Given the description of an element on the screen output the (x, y) to click on. 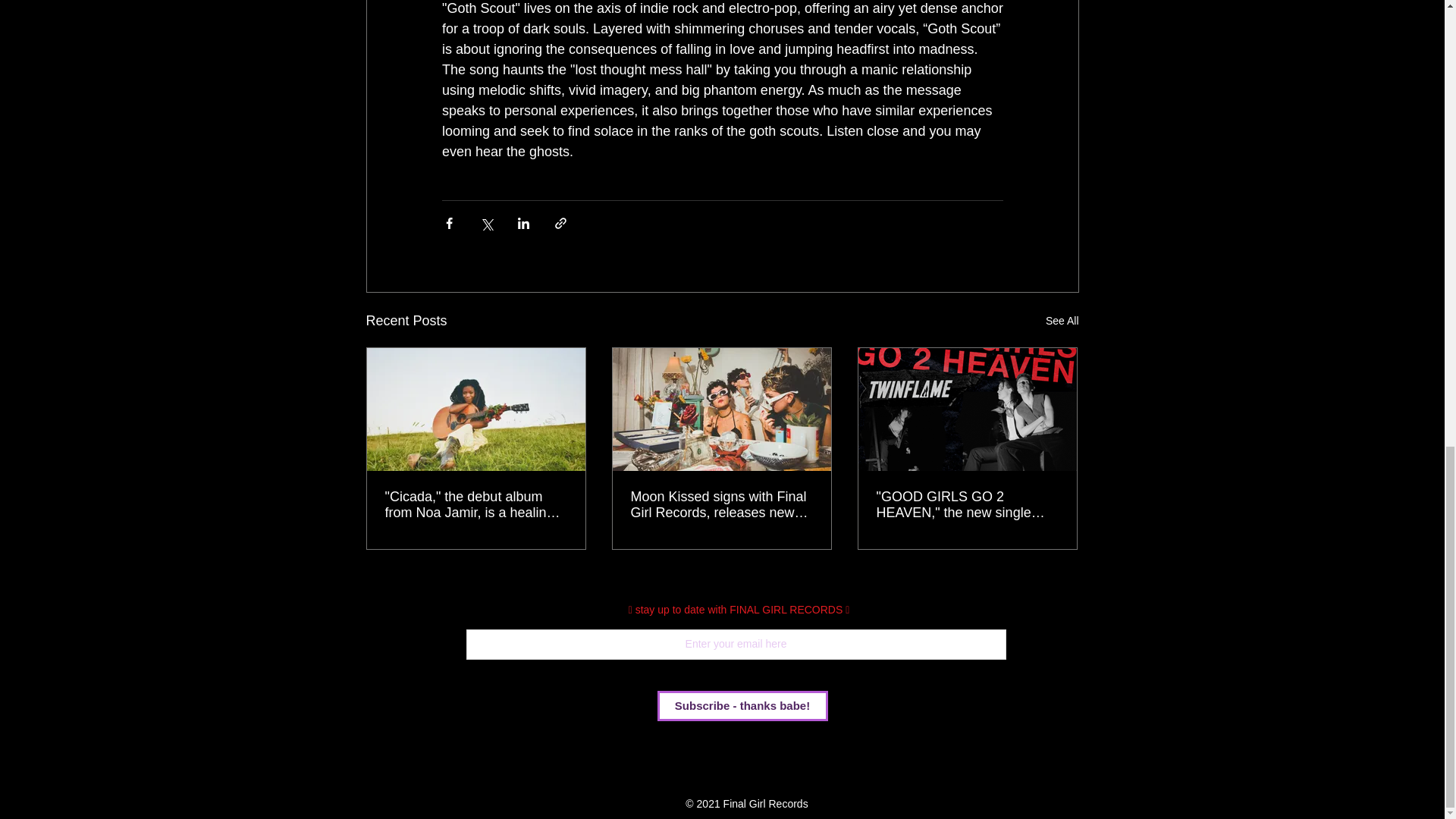
See All (1061, 321)
Subscribe - thanks babe! (741, 706)
